Given the description of an element on the screen output the (x, y) to click on. 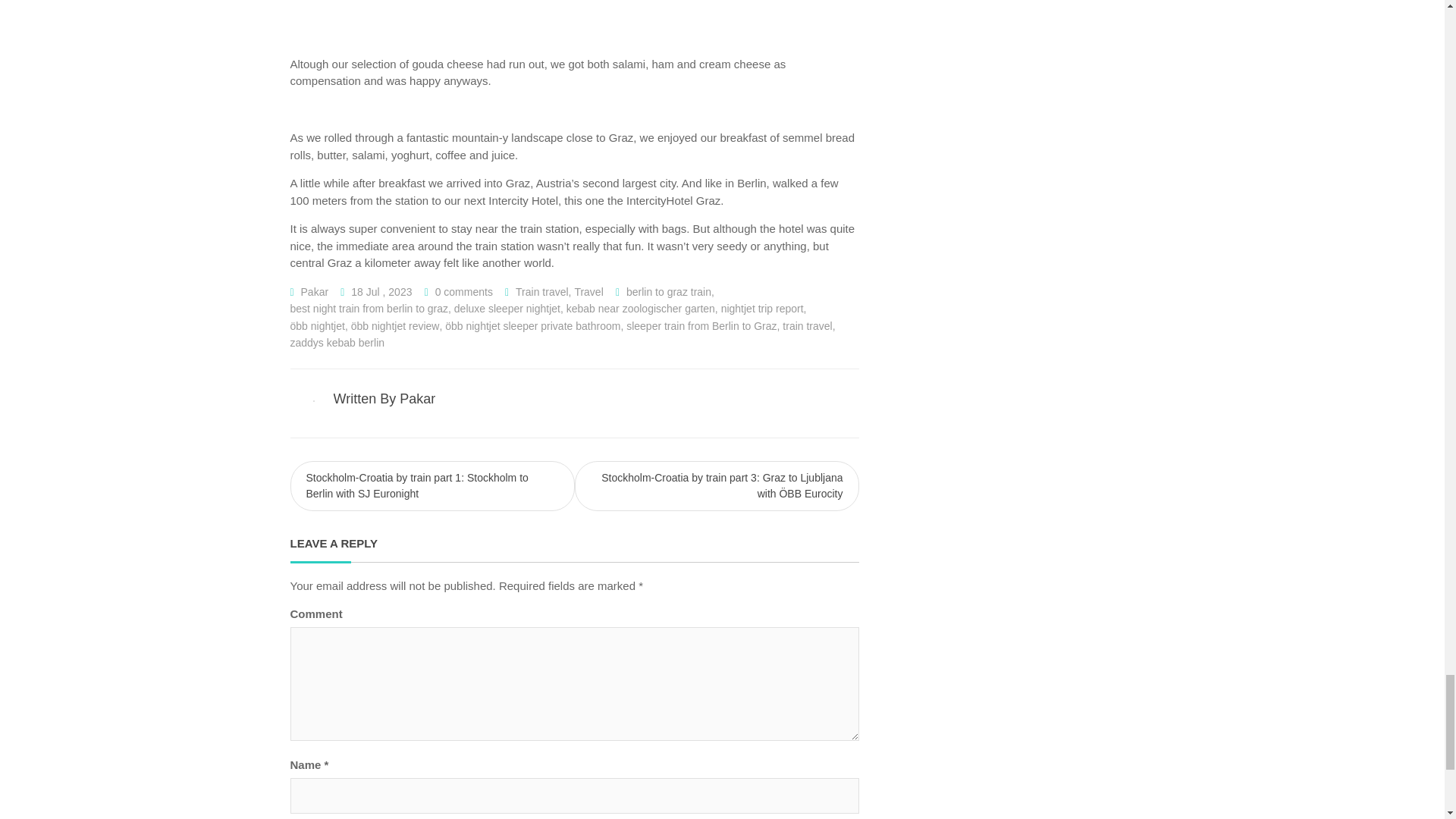
berlin to graz train (668, 292)
Pakar (315, 292)
best night train from berlin to graz (368, 308)
sleeper train from Berlin to Graz (701, 326)
0 comments (464, 292)
zaddys kebab berlin (336, 342)
deluxe sleeper nightjet (507, 308)
train travel (807, 326)
nightjet trip report (761, 308)
